Given the description of an element on the screen output the (x, y) to click on. 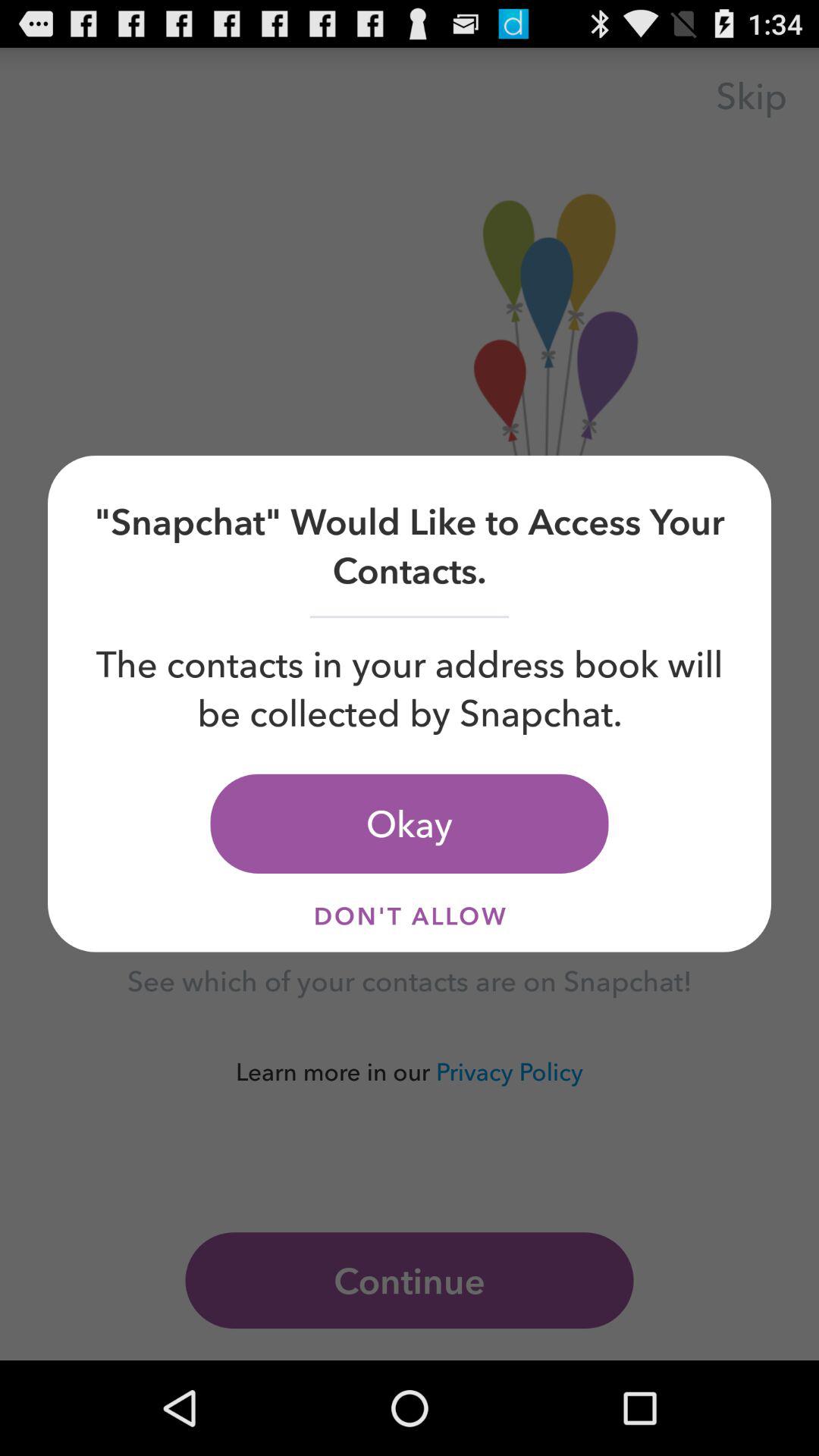
flip until don't allow (409, 915)
